Given the description of an element on the screen output the (x, y) to click on. 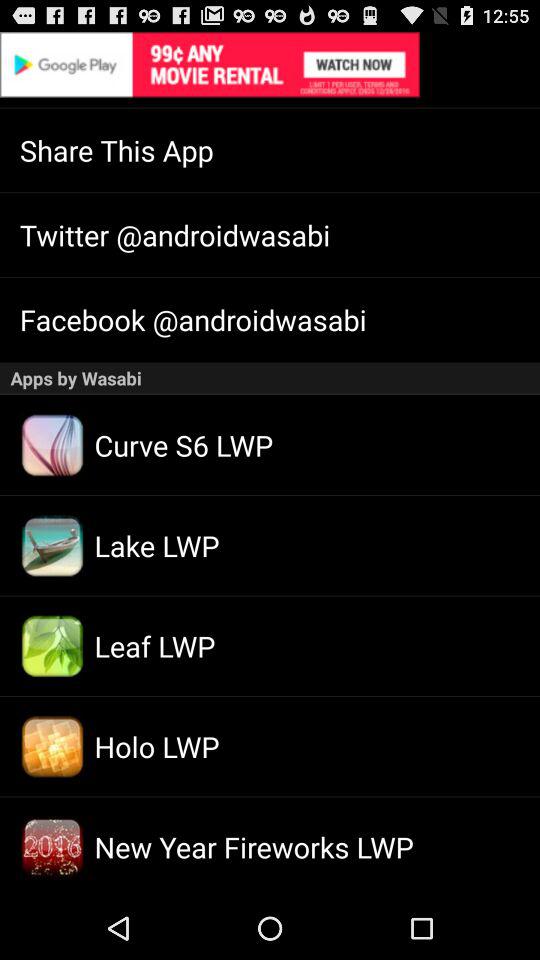
try this app (270, 64)
